Given the description of an element on the screen output the (x, y) to click on. 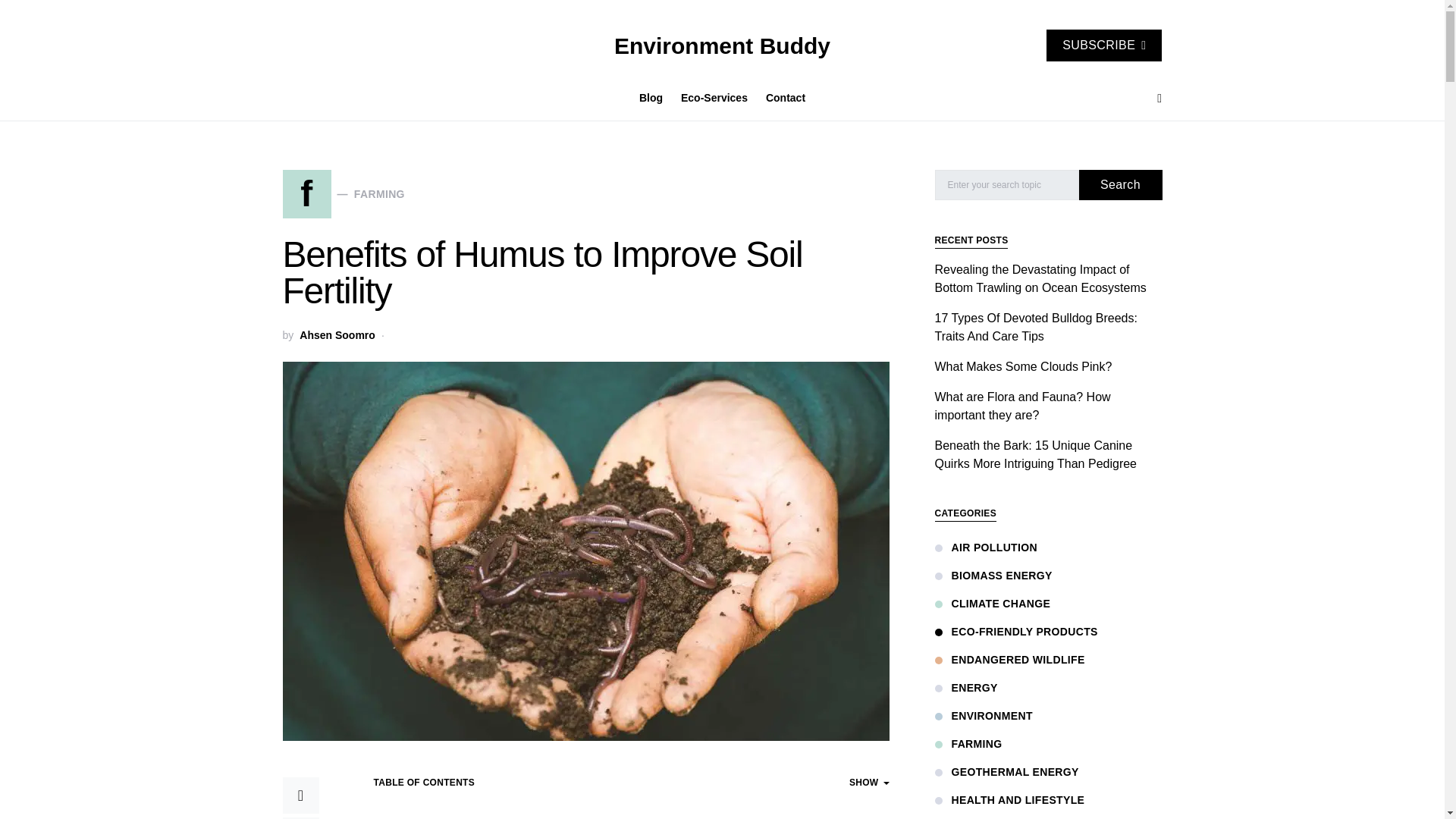
Contact (781, 98)
Eco-Services (714, 98)
Ahsen Soomro (337, 335)
SUBSCRIBE (1103, 45)
Environment Buddy (343, 193)
View all posts by Ahsen Soomro (721, 45)
